Given the description of an element on the screen output the (x, y) to click on. 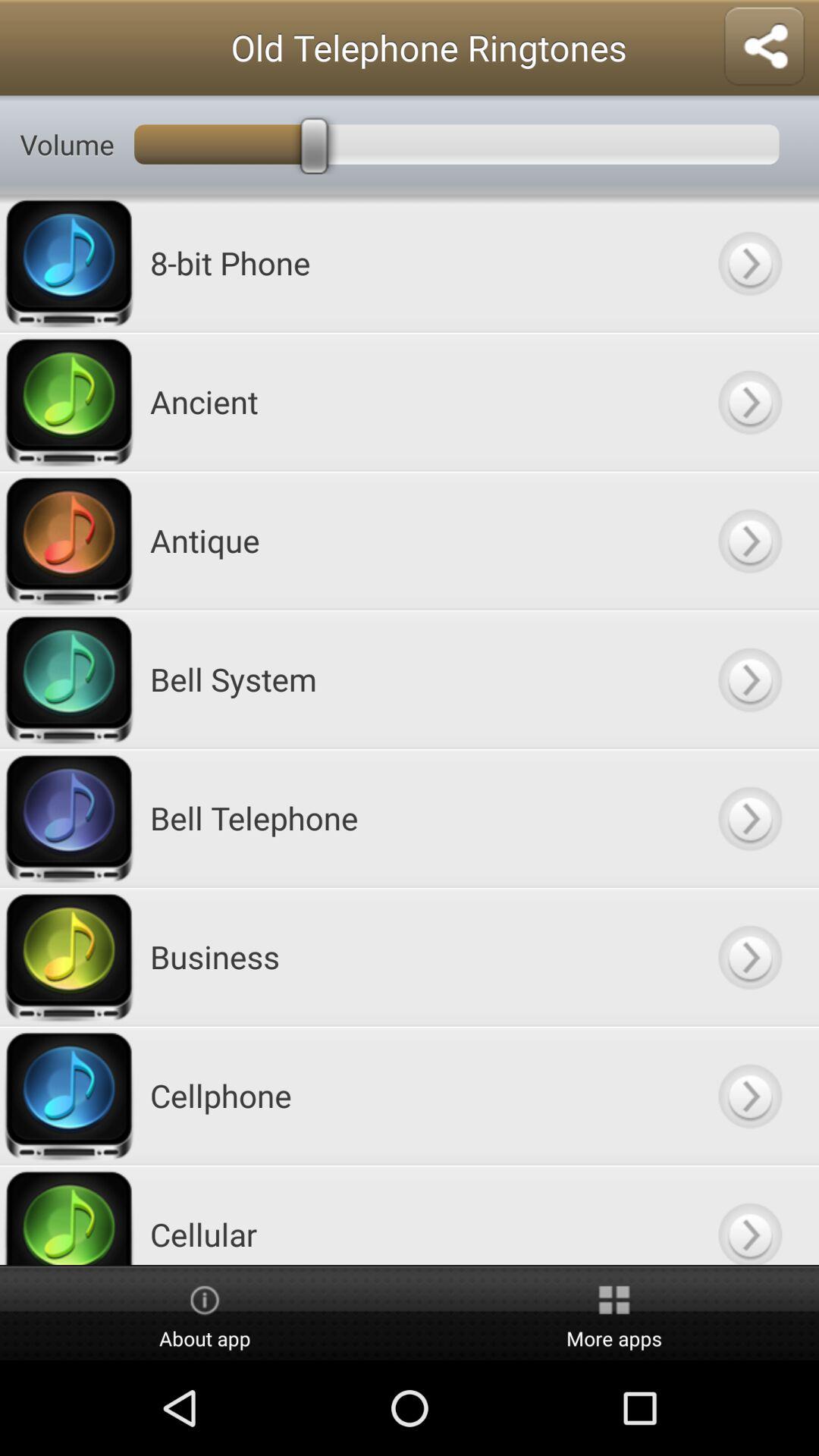
go to button (749, 956)
